Given the description of an element on the screen output the (x, y) to click on. 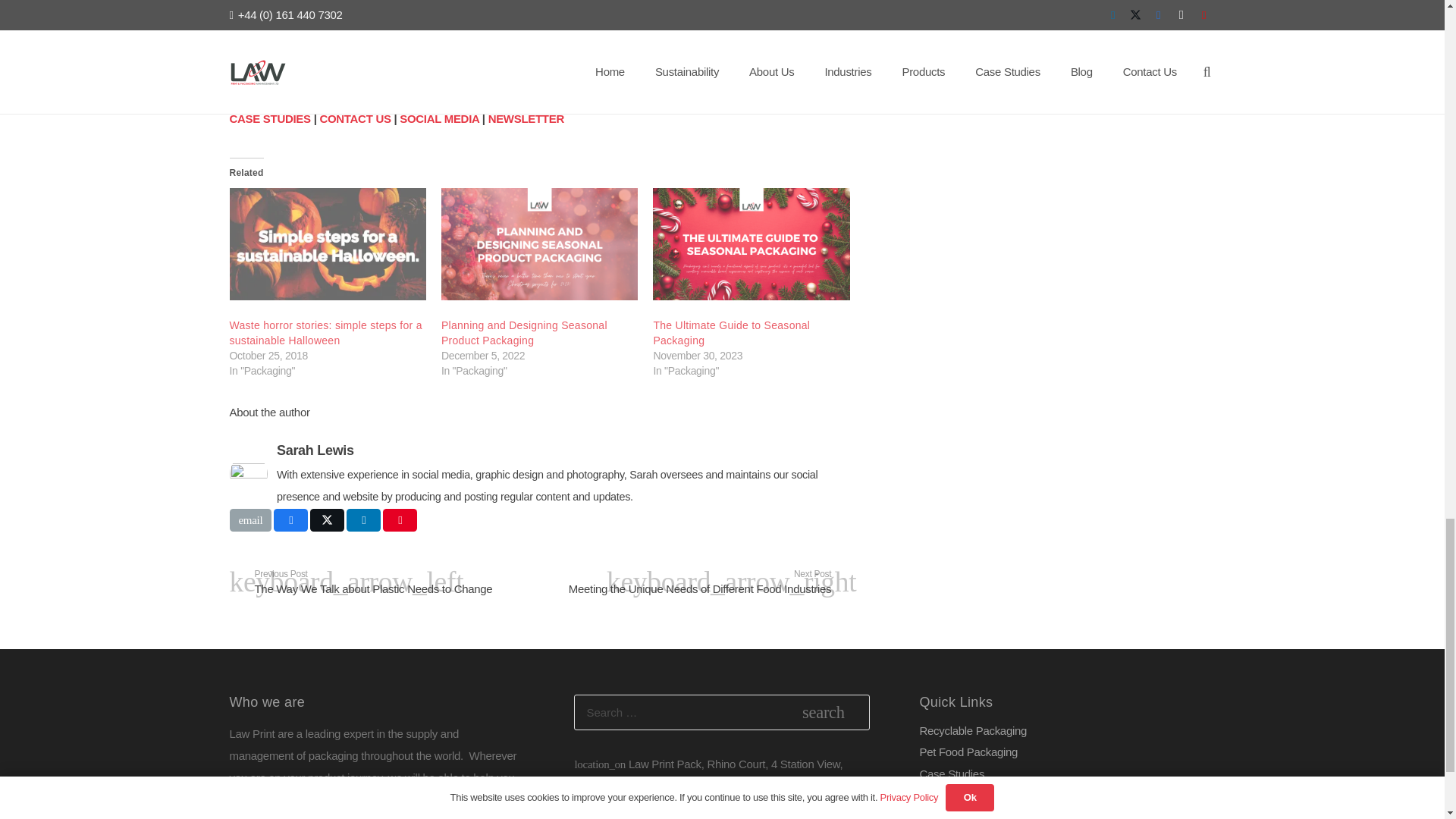
Planning and Designing Seasonal Product Packaging (524, 332)
Planning and Designing Seasonal Product Packaging (539, 244)
Share this (290, 519)
Email this (249, 519)
The Ultimate Guide to Seasonal Packaging (750, 244)
The Ultimate Guide to Seasonal Packaging (730, 332)
